Given the description of an element on the screen output the (x, y) to click on. 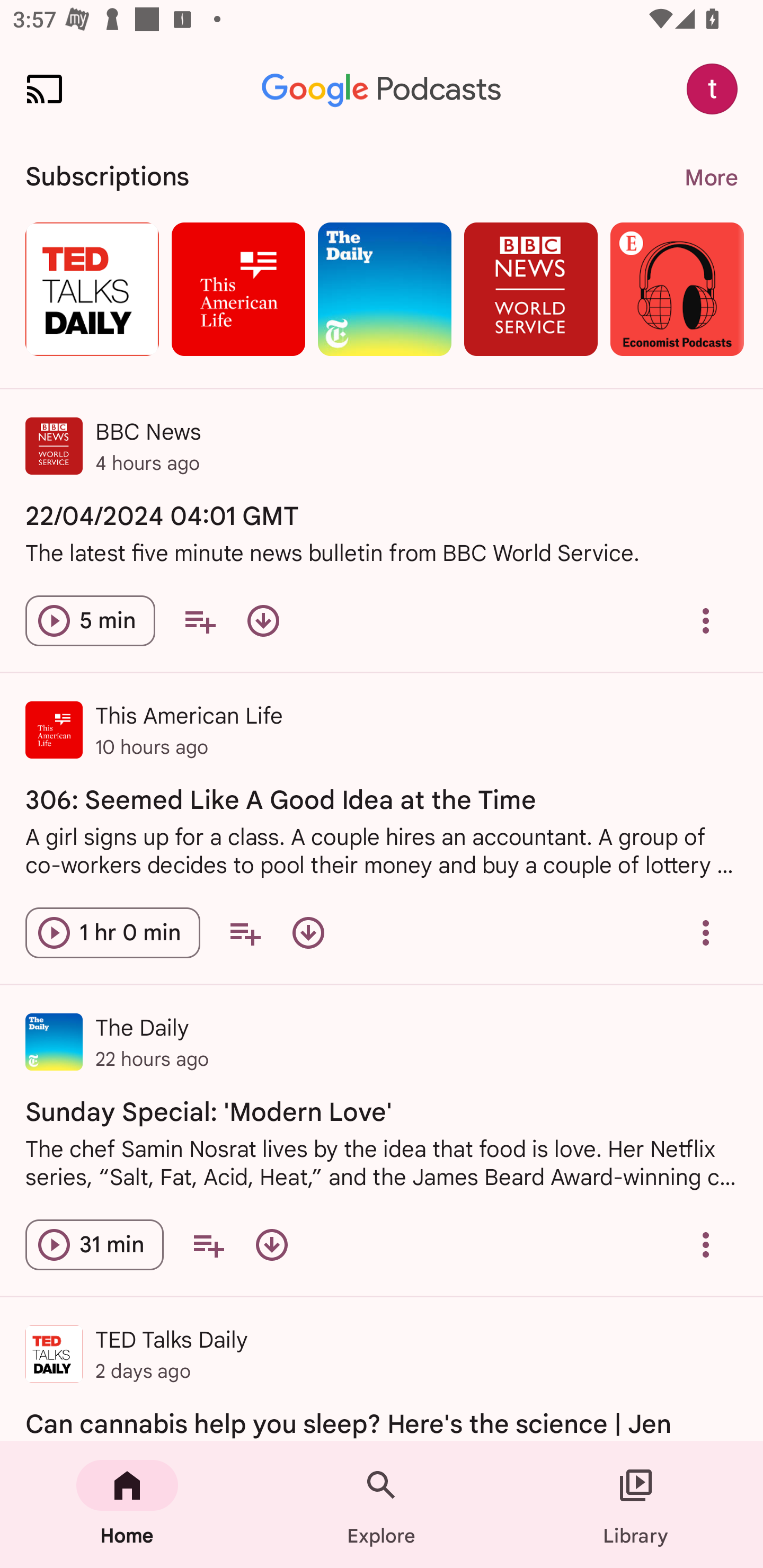
Cast. Disconnected (44, 88)
More More. Navigate to subscriptions page. (710, 177)
TED Talks Daily (91, 288)
This American Life (238, 288)
The Daily (384, 288)
BBC News (530, 288)
Economist Podcasts (676, 288)
Play episode 22/04/2024 04:01 GMT 5 min (89, 620)
Add to your queue (199, 620)
Download episode (263, 620)
Overflow menu (705, 620)
Add to your queue (244, 932)
Download episode (308, 932)
Overflow menu (705, 932)
Play episode Sunday Special: 'Modern Love' 31 min (94, 1244)
Add to your queue (208, 1244)
Download episode (271, 1244)
Overflow menu (705, 1244)
Explore (381, 1504)
Library (635, 1504)
